Given the description of an element on the screen output the (x, y) to click on. 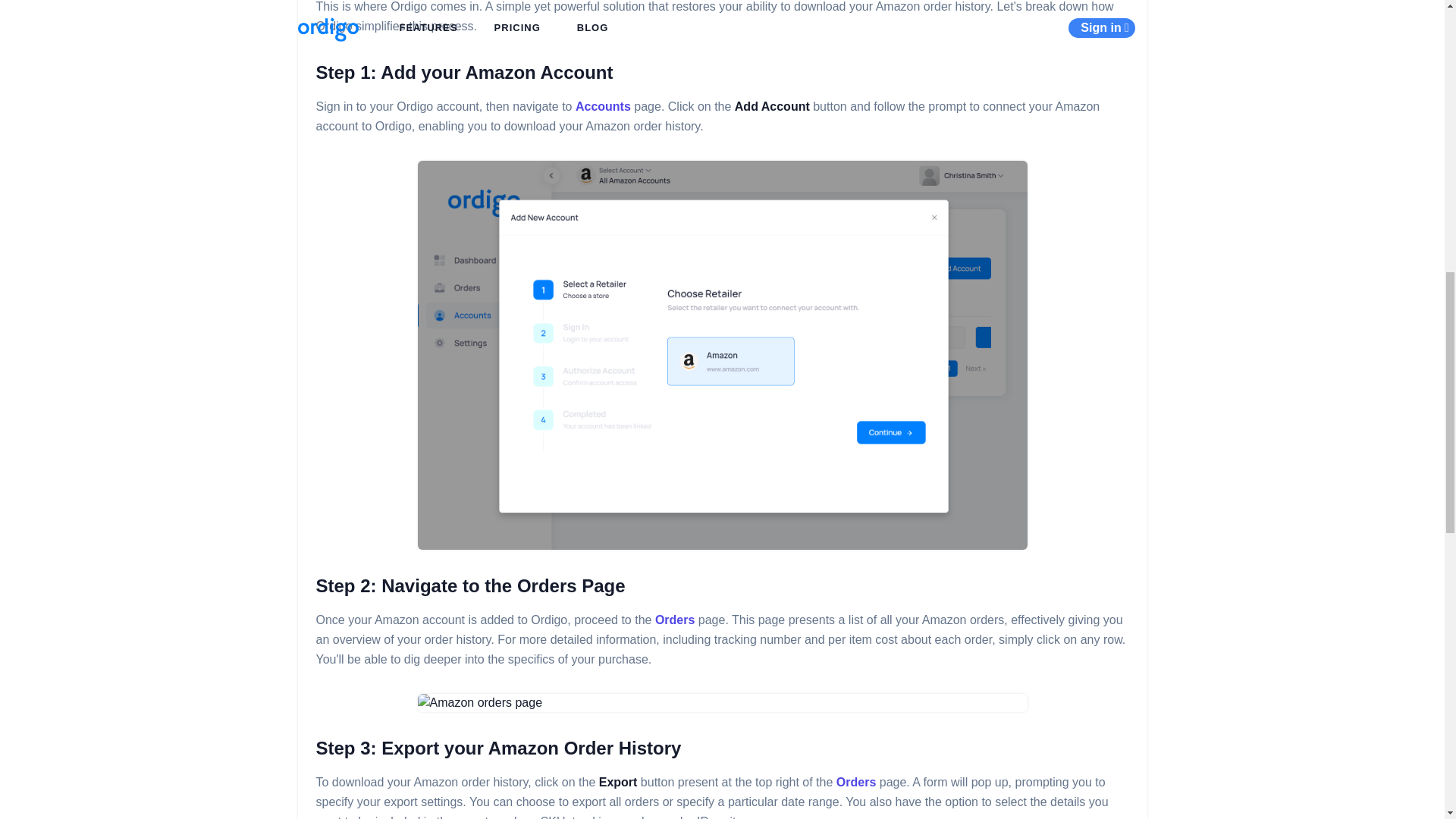
Orders (855, 781)
Accounts (602, 106)
Orders (674, 619)
